Given the description of an element on the screen output the (x, y) to click on. 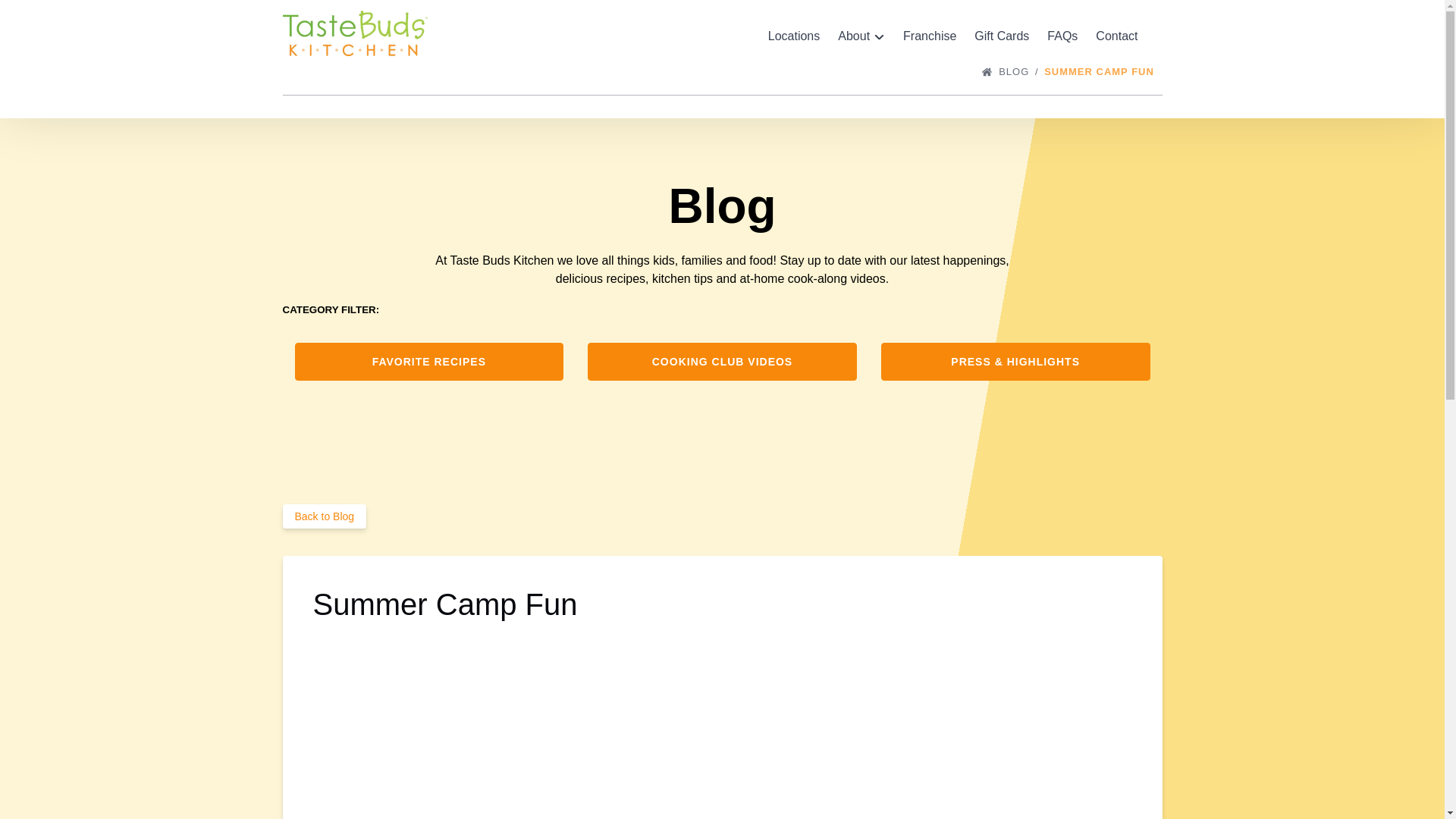
Contact (1116, 35)
FAQs (1062, 35)
Skip to content (47, 16)
Skip to footer (42, 16)
Franchise (929, 35)
Open About Menu (864, 32)
BLOG (1019, 71)
About (860, 35)
Gift Cards (1001, 35)
COOKING CLUB VIDEOS (722, 348)
